Given the description of an element on the screen output the (x, y) to click on. 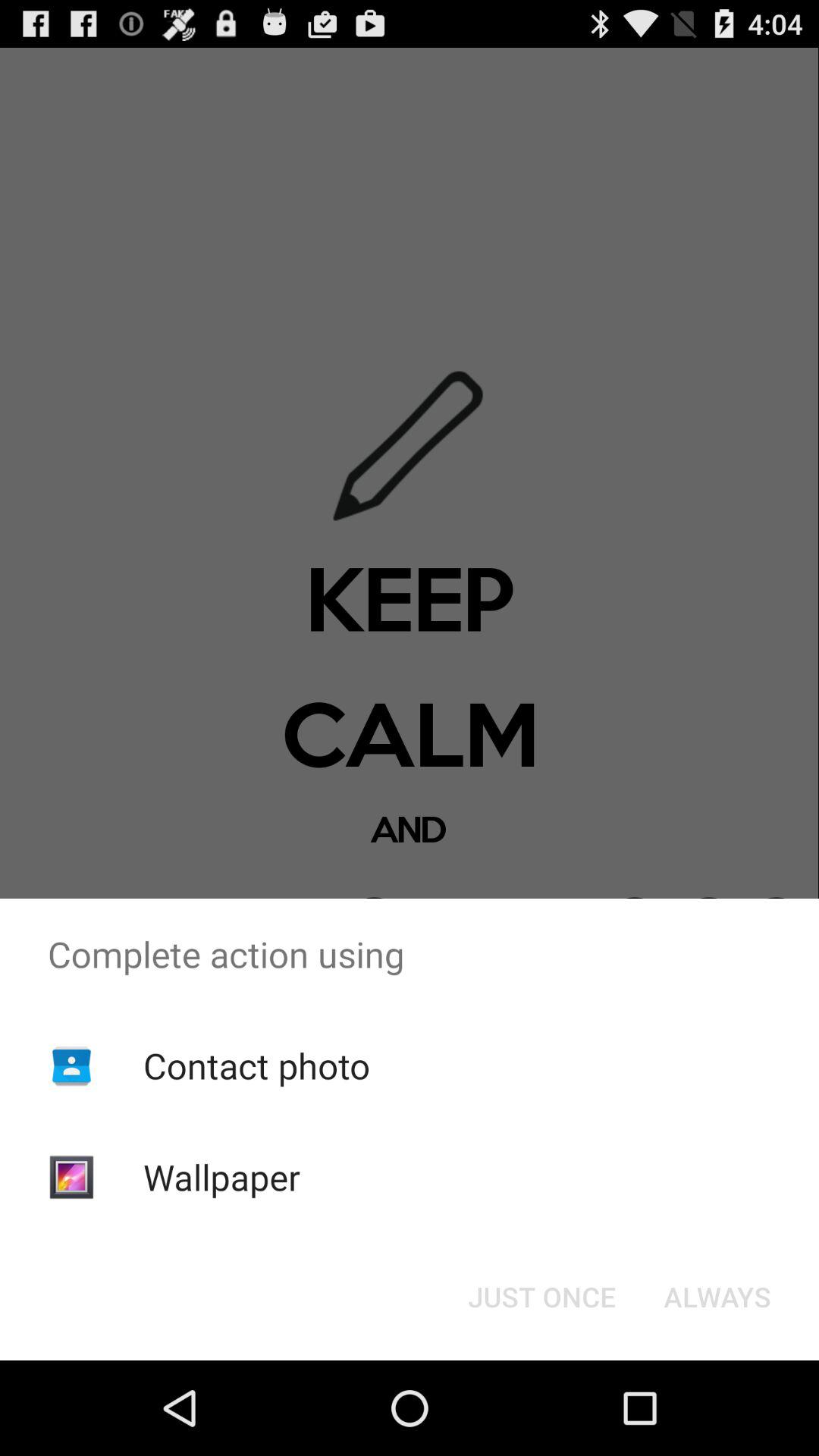
turn on the icon next to just once icon (717, 1296)
